Given the description of an element on the screen output the (x, y) to click on. 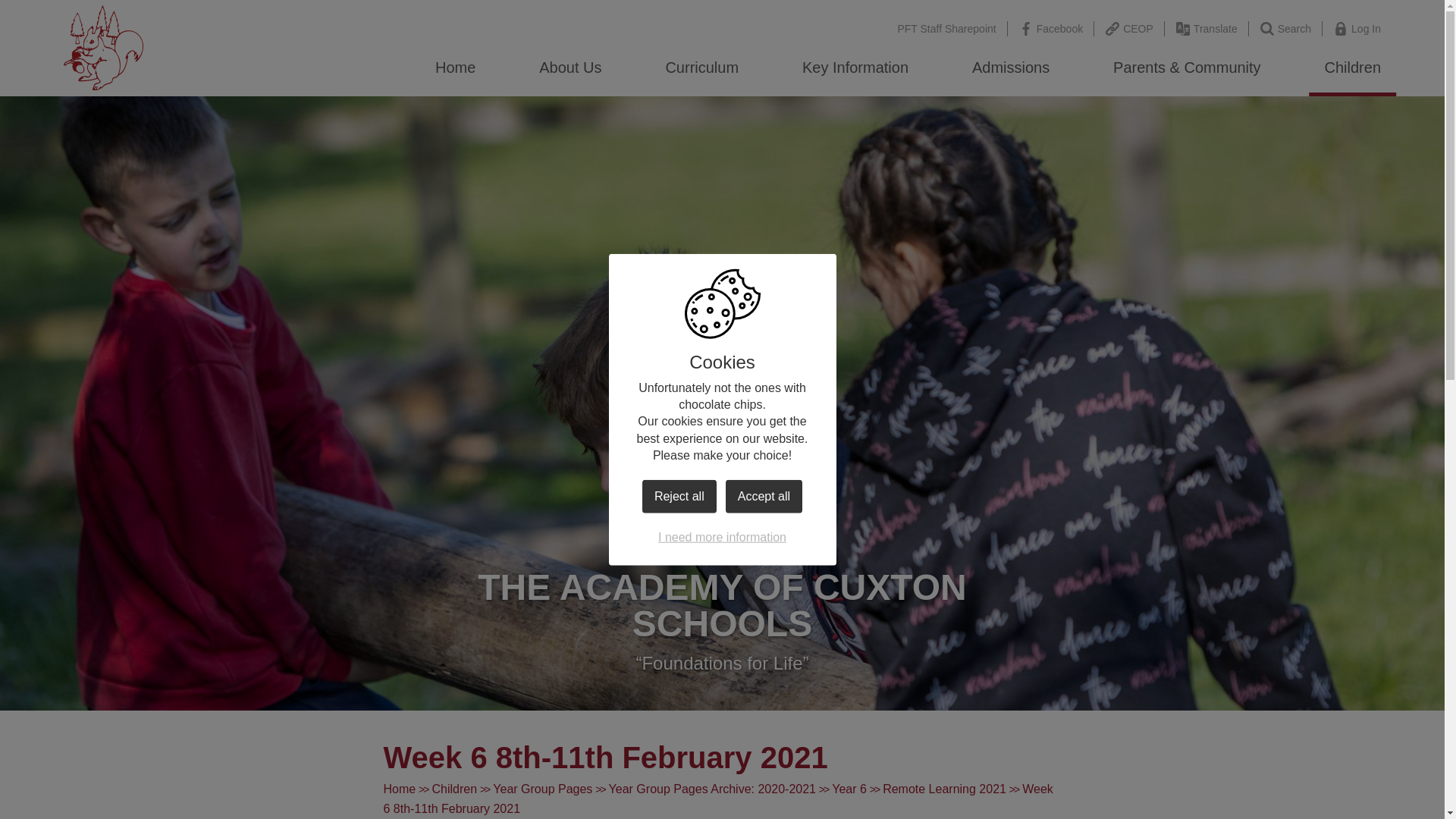
Log in (1356, 29)
About Us (569, 67)
CEOP (1129, 29)
Facebook (1050, 29)
Curriculum (701, 67)
Home (455, 67)
PFT Staff Sharepoint (946, 29)
Home Page (104, 47)
